Given the description of an element on the screen output the (x, y) to click on. 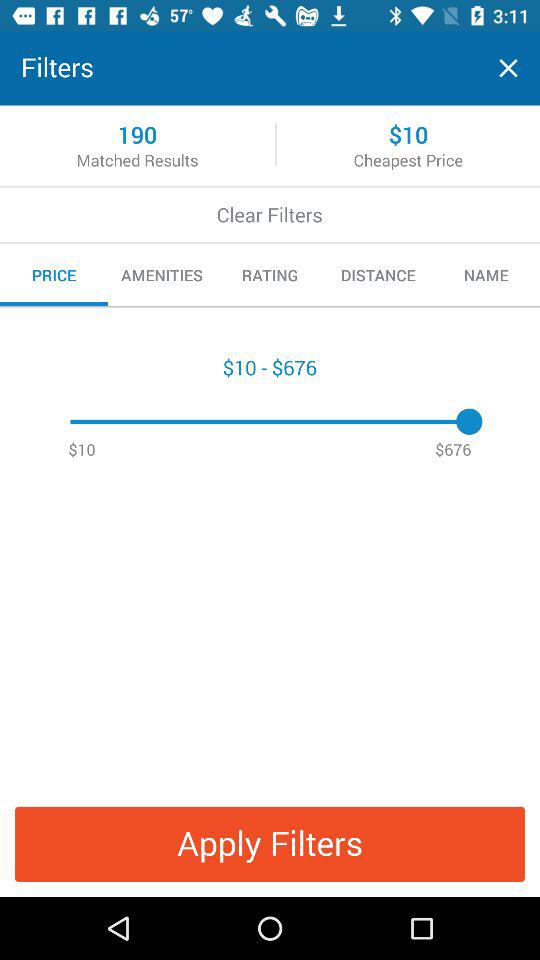
close the page (508, 67)
